Given the description of an element on the screen output the (x, y) to click on. 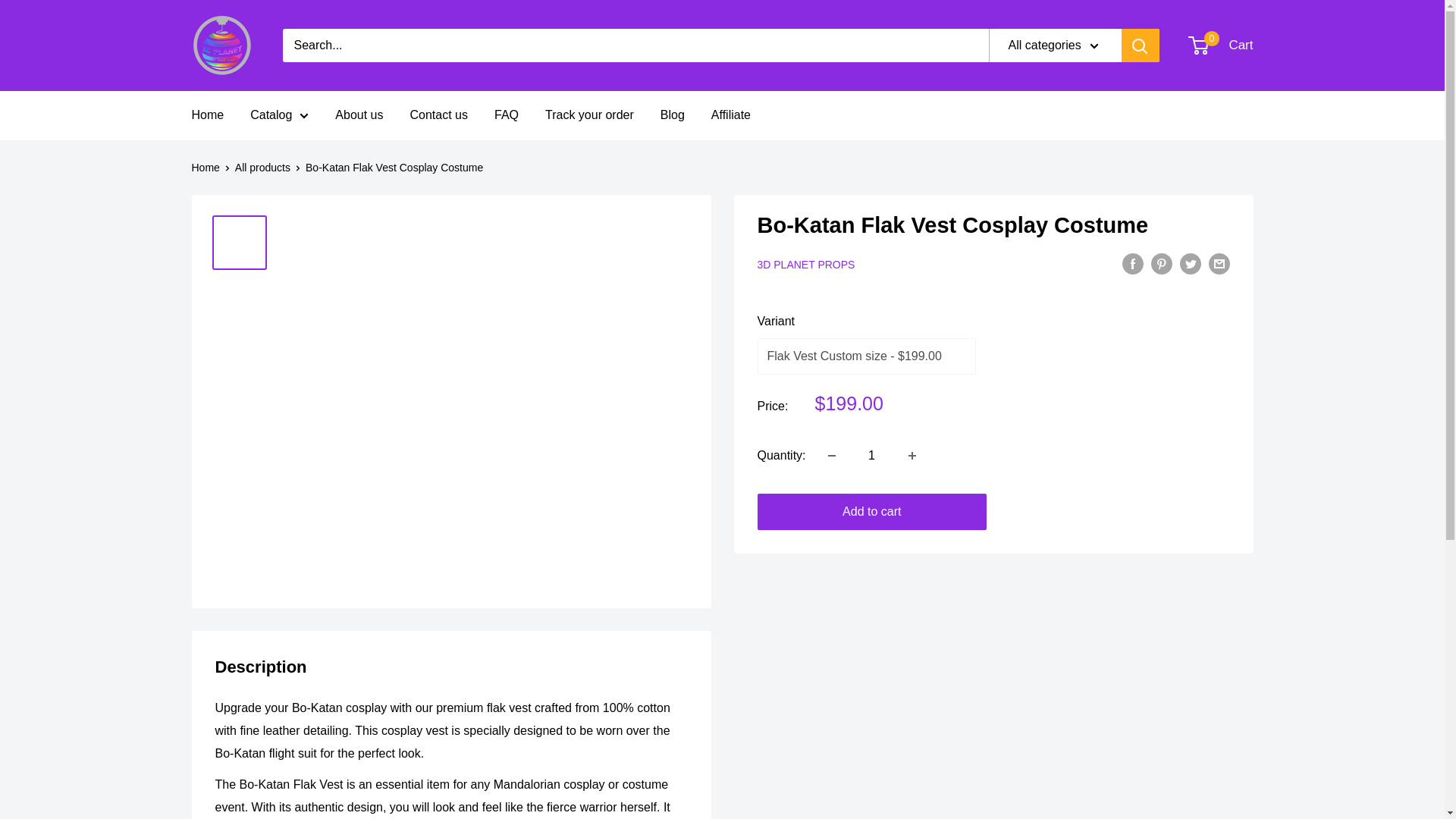
3dplanetprops (220, 45)
Increase quantity by 1 (912, 455)
Catalog (279, 115)
1 (871, 455)
Home (1221, 45)
Decrease quantity by 1 (207, 115)
